Given the description of an element on the screen output the (x, y) to click on. 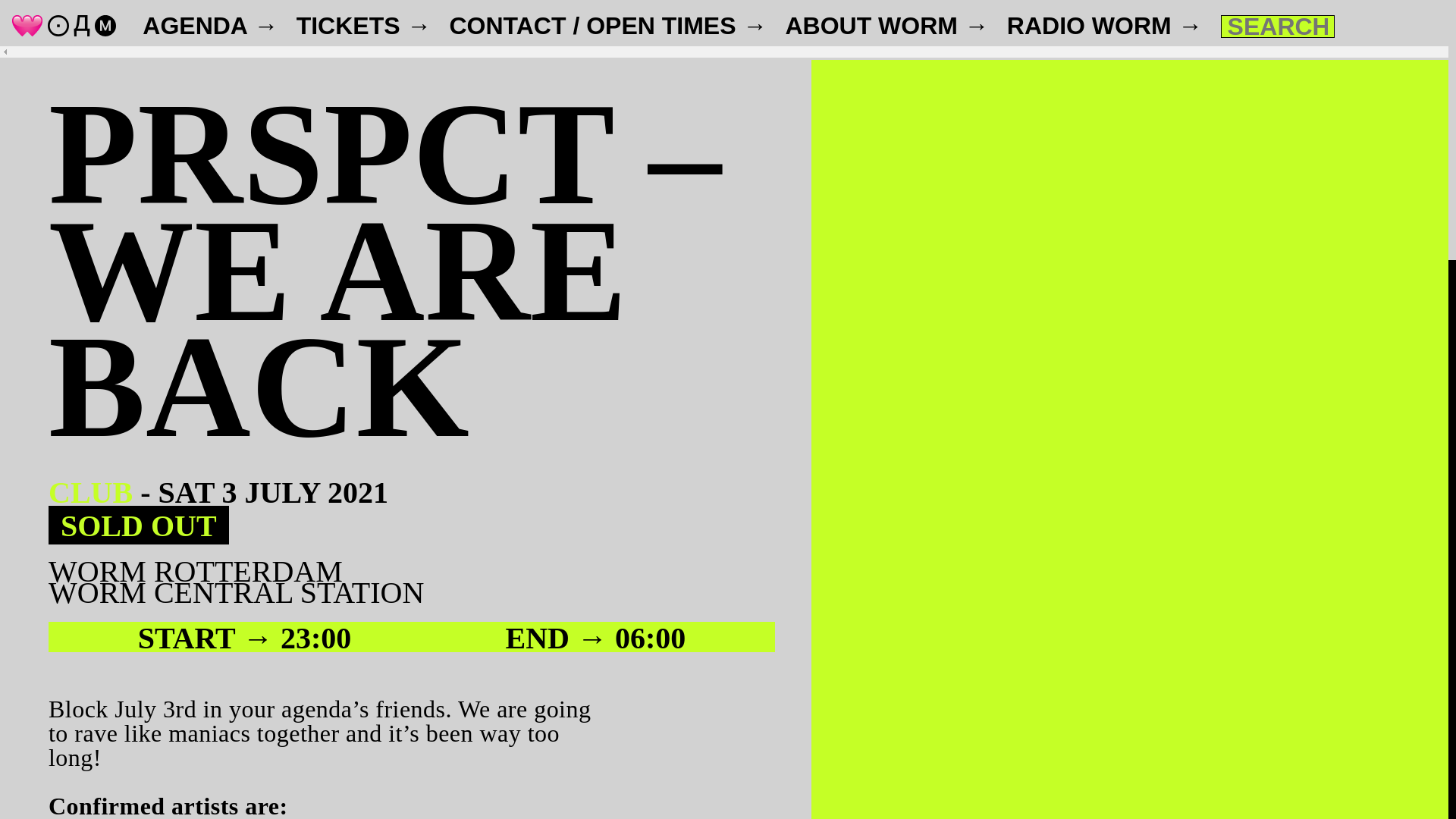
SOLD OUT (138, 525)
Search for: (1278, 26)
CLUB (90, 492)
